Given the description of an element on the screen output the (x, y) to click on. 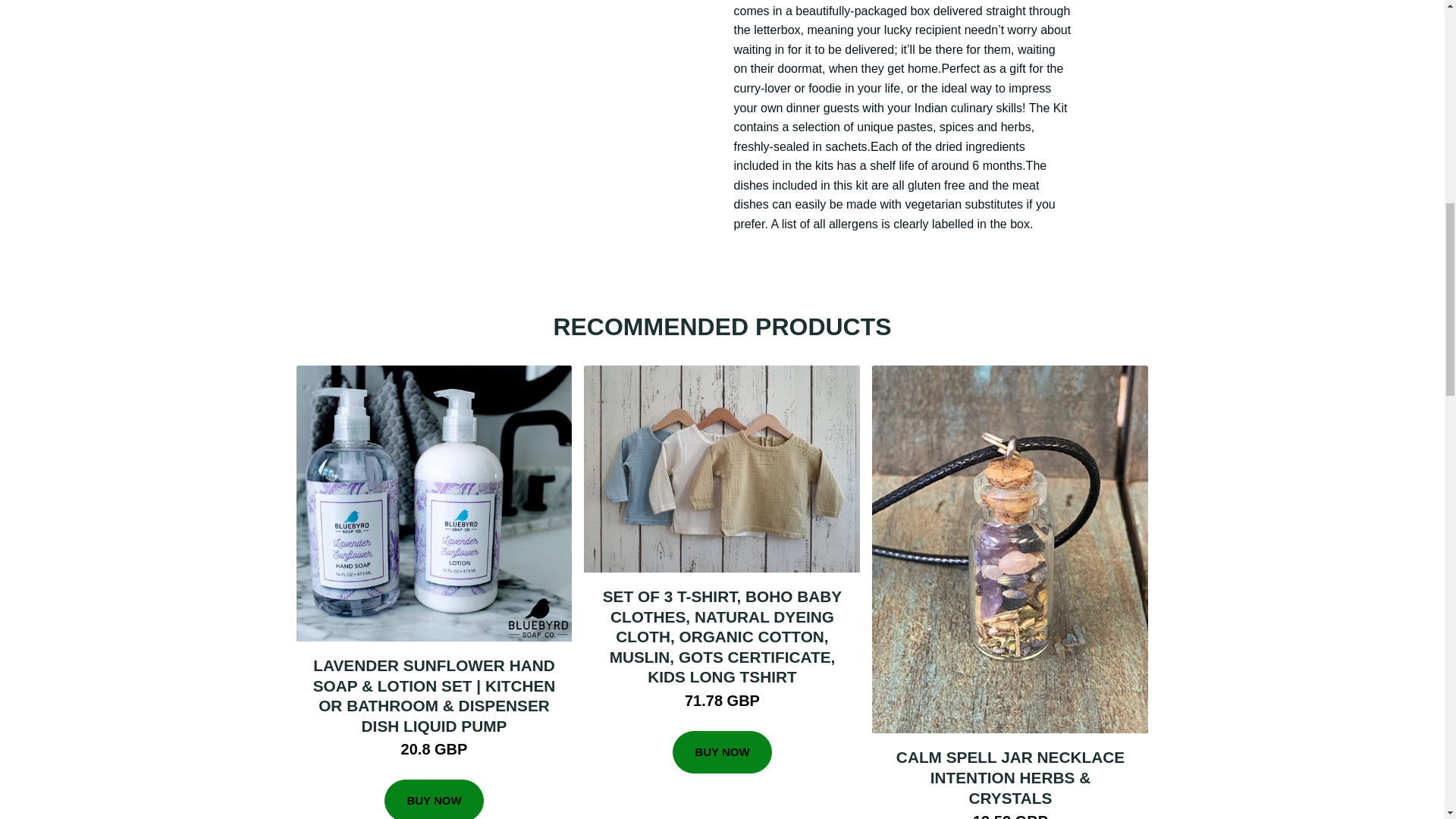
BUY NOW (433, 799)
BUY NOW (721, 752)
